Given the description of an element on the screen output the (x, y) to click on. 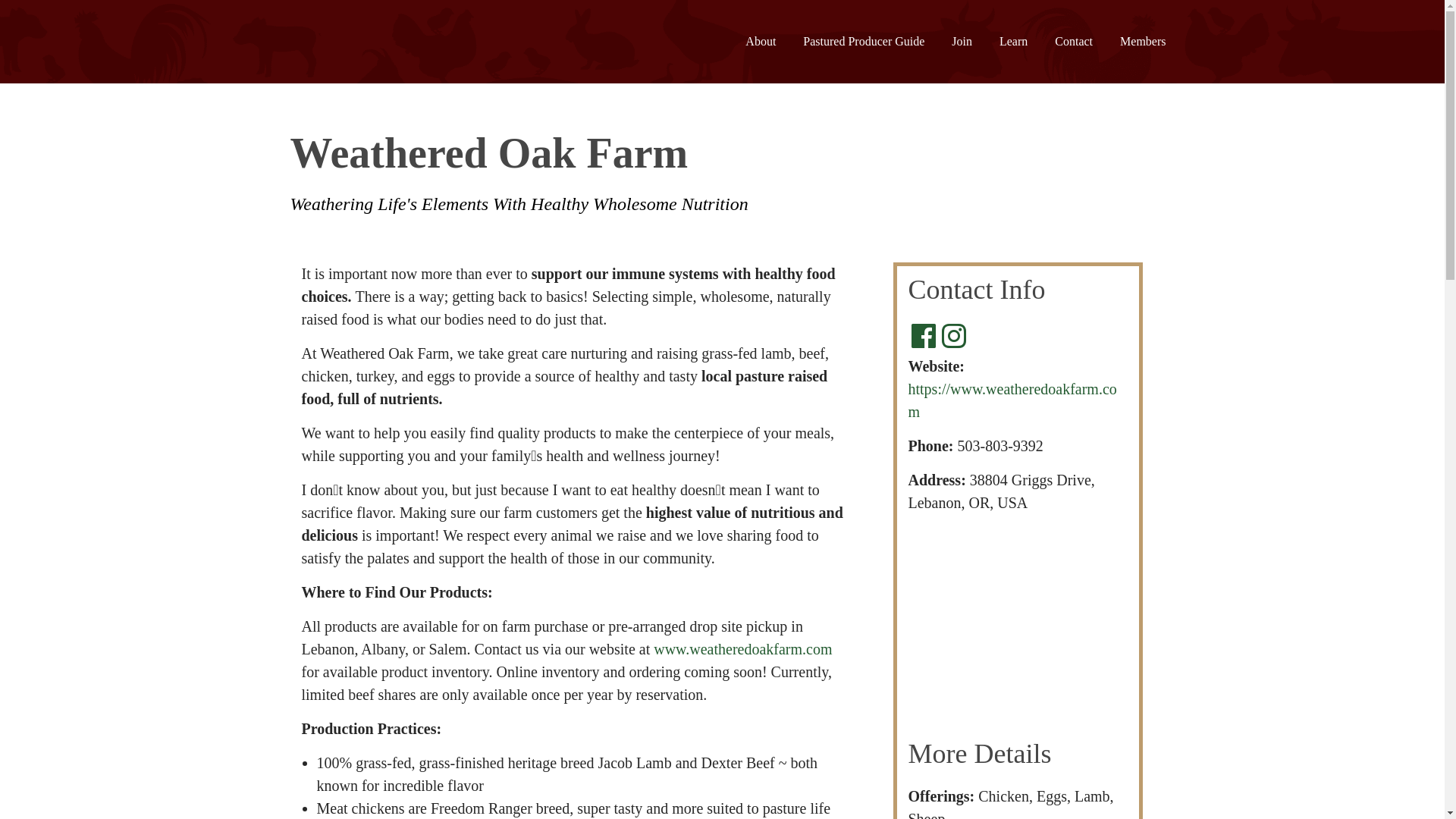
Members (1142, 41)
. (954, 331)
Pastured Producer Guide (863, 41)
Learn (1012, 41)
Join (962, 41)
www.weatheredoakfarm.com (742, 648)
Contact (1073, 41)
About (760, 41)
. (923, 331)
